Given the description of an element on the screen output the (x, y) to click on. 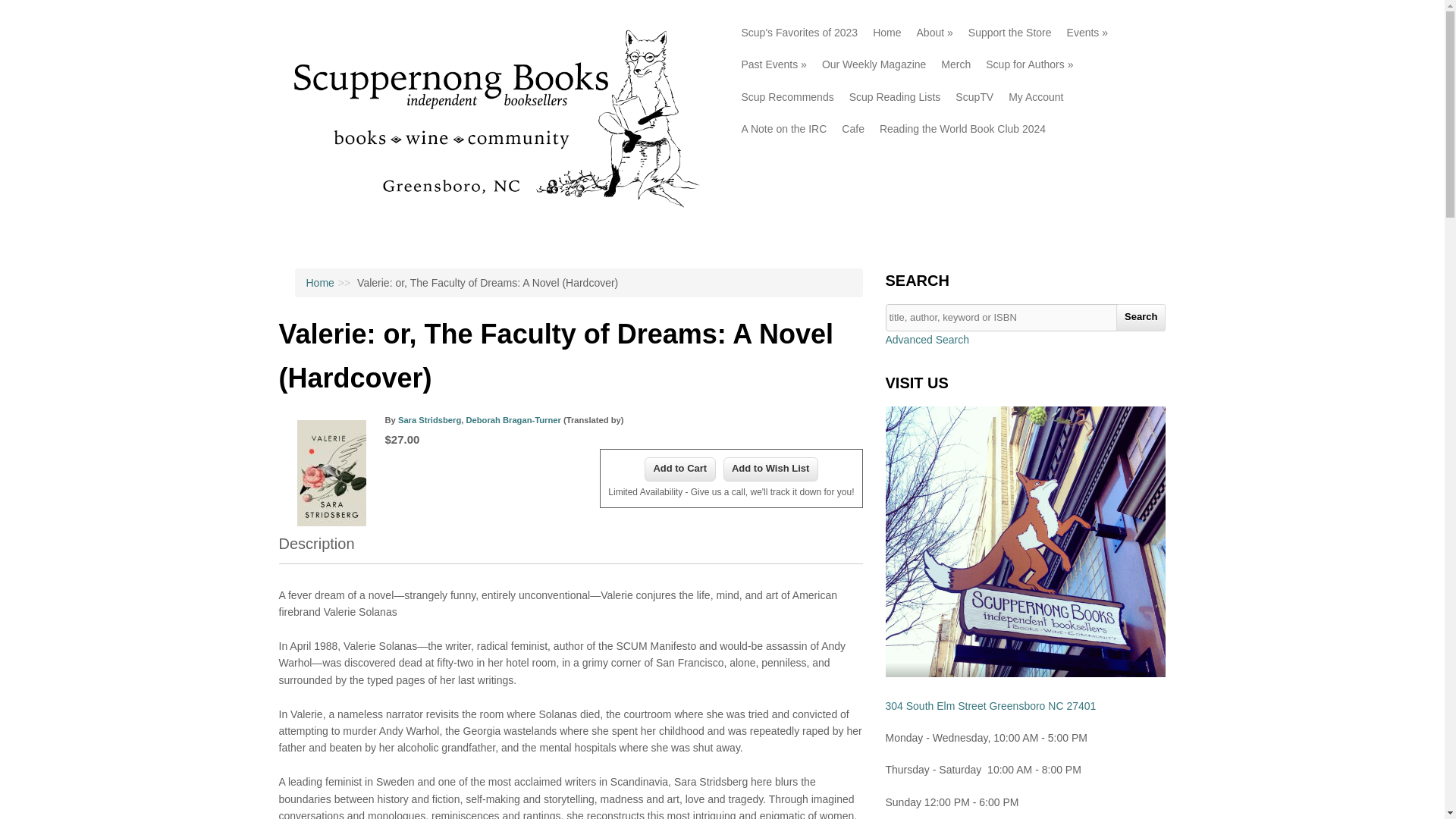
Enter the terms you wish to search for. (1025, 317)
Scup's Favorites of 2023 (799, 32)
Home (886, 32)
Support the Store (1009, 32)
Add to Cart (680, 469)
Add to Wish List (770, 469)
Search (1141, 317)
Home (489, 218)
